Given the description of an element on the screen output the (x, y) to click on. 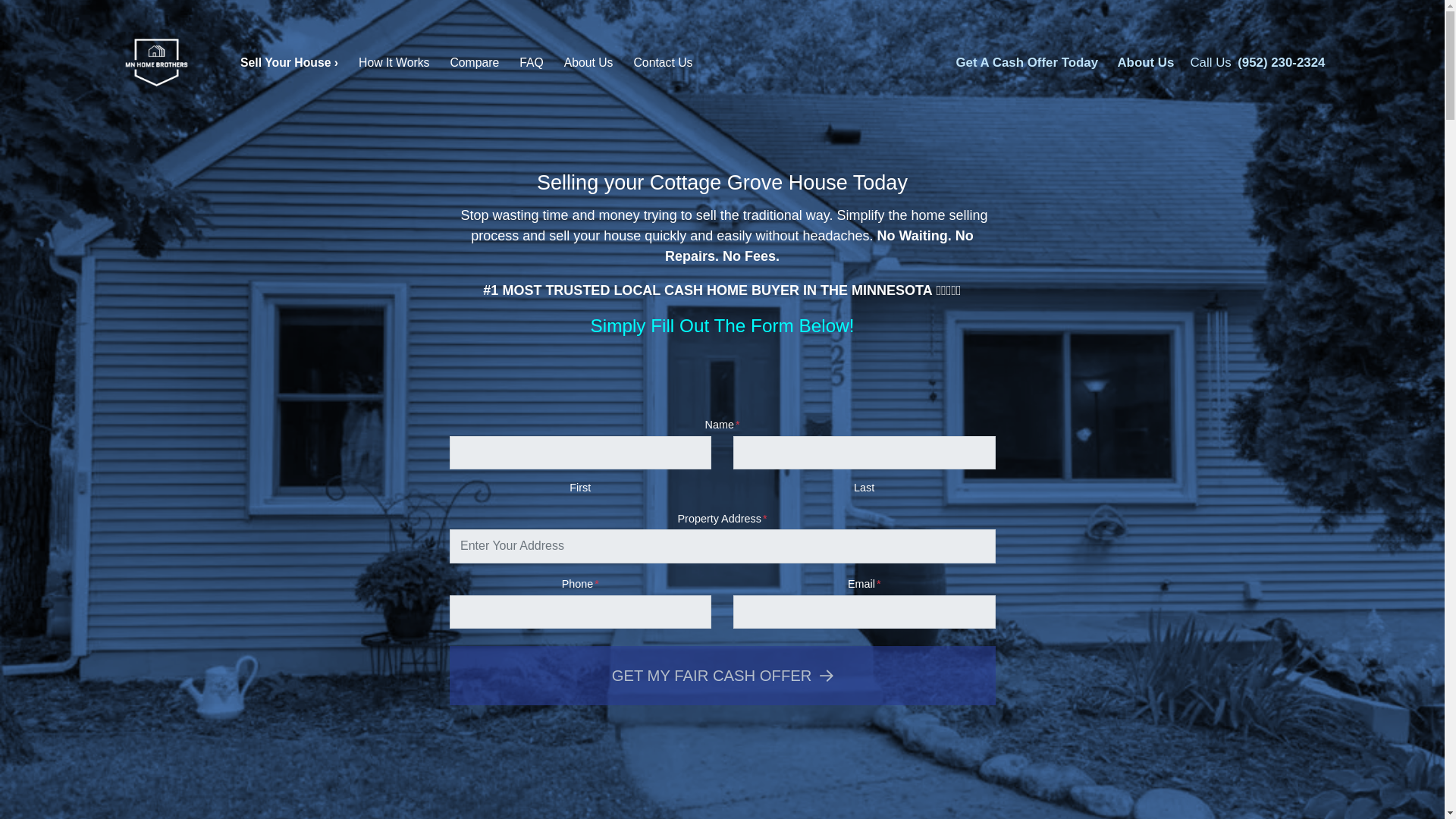
GET MY FAIR CASH OFFER (721, 675)
Get A Cash Offer Today (1026, 62)
How It Works (394, 63)
